Given the description of an element on the screen output the (x, y) to click on. 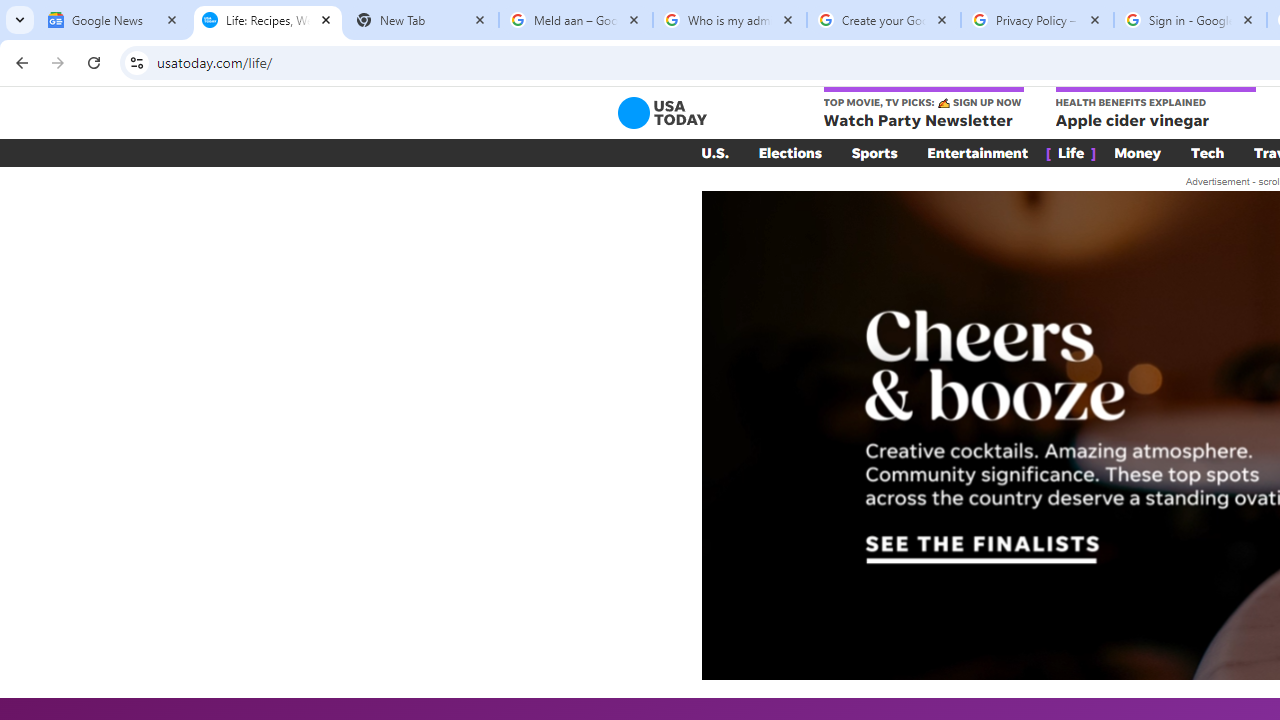
Entertainment (977, 152)
Sports (873, 152)
Money (1137, 152)
[ Life ] (1071, 152)
Forward (57, 62)
System (10, 11)
Sign in - Google Accounts (1190, 20)
Elections (789, 152)
Close (1247, 19)
Reload (93, 62)
